Given the description of an element on the screen output the (x, y) to click on. 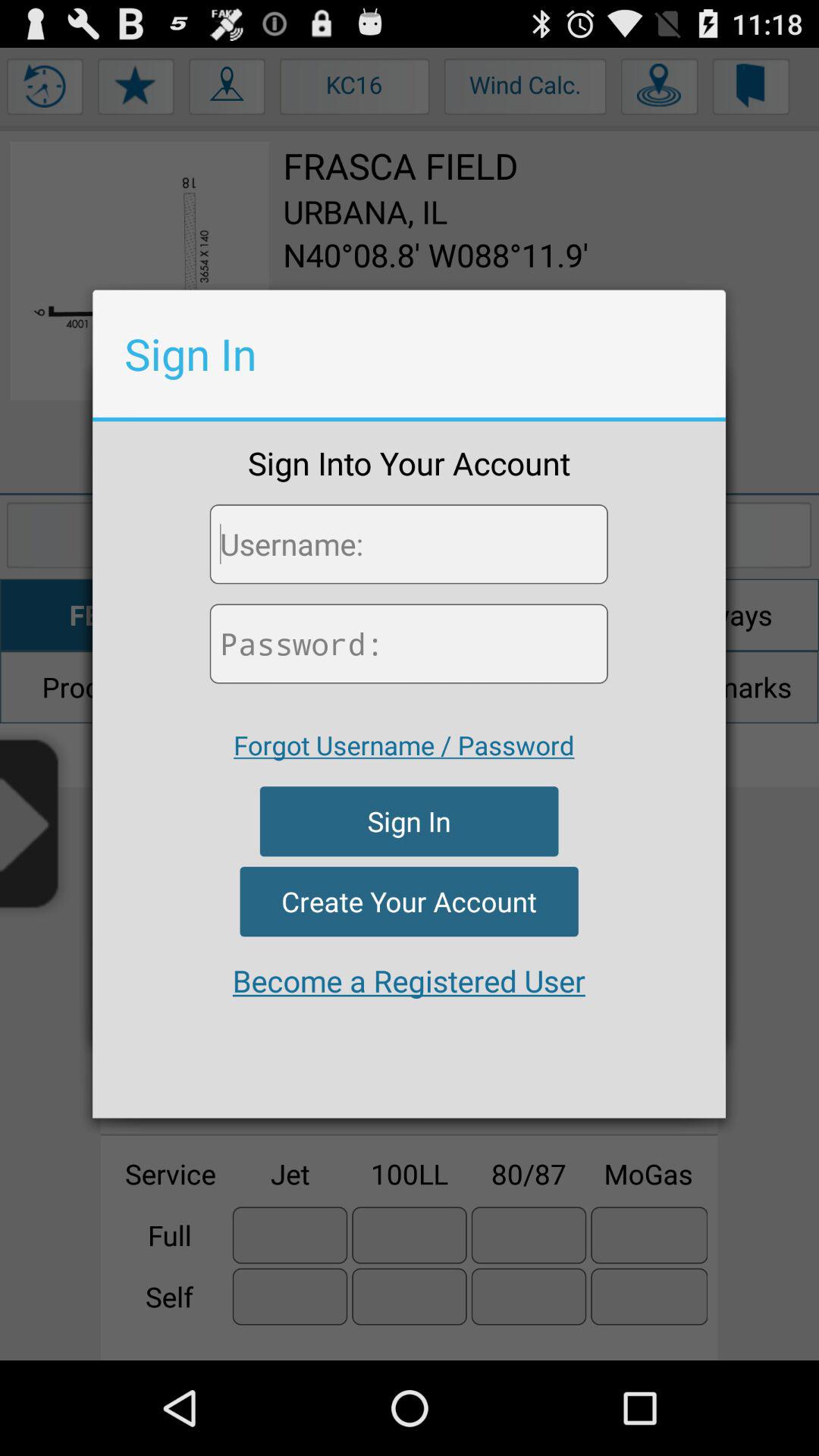
open the become a registered item (408, 980)
